Given the description of an element on the screen output the (x, y) to click on. 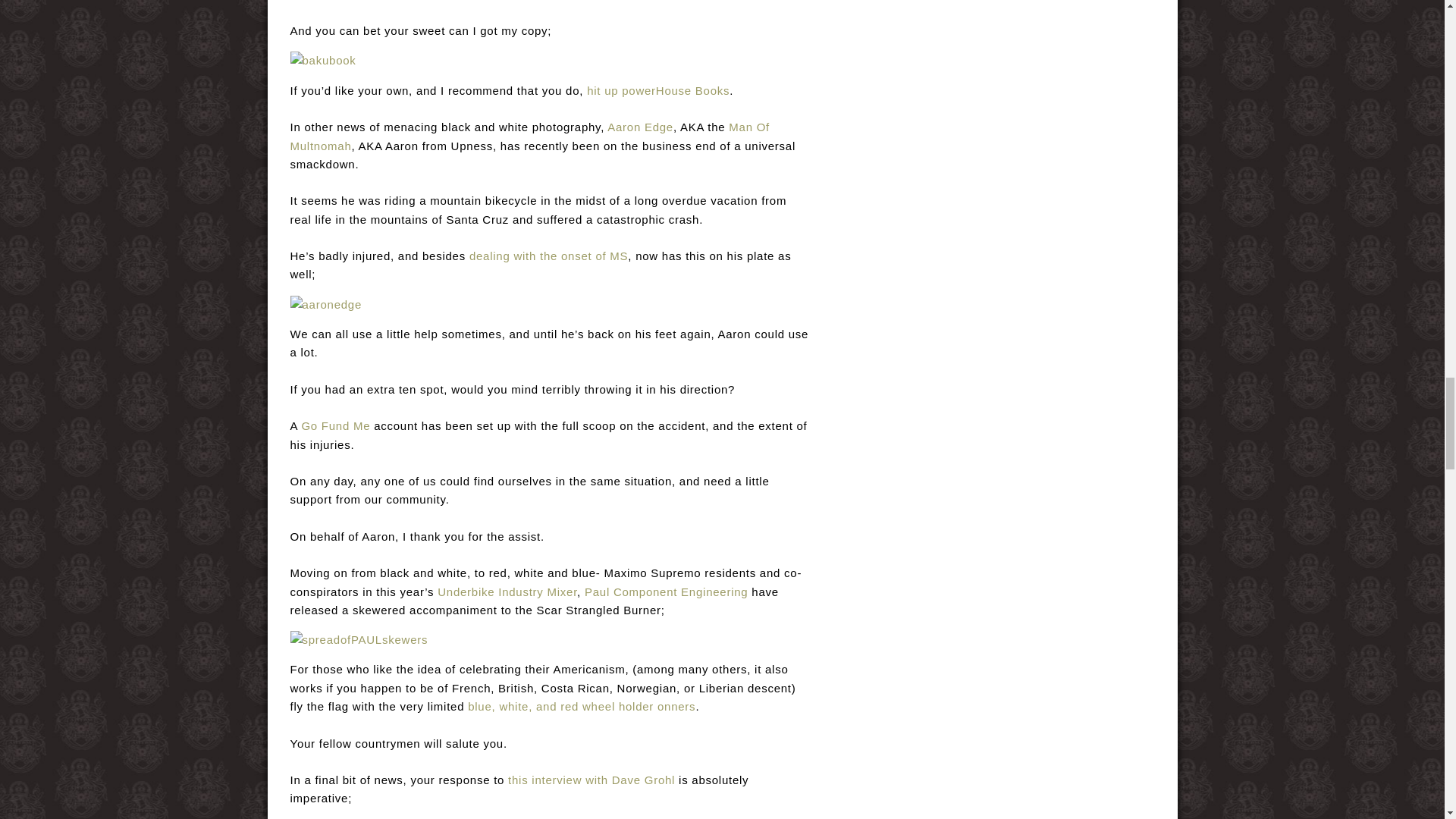
Underbike Industry Mixer (507, 591)
hit up powerHouse Books (657, 90)
Man Of Multnomah (529, 135)
Go Fund Me (335, 425)
Aaron Edge (639, 126)
Paul Component Engineering (666, 591)
blue, white, and red wheel holder onners (581, 706)
dealing with the onset of MS (547, 255)
this interview with Dave Grohl (591, 779)
